Given the description of an element on the screen output the (x, y) to click on. 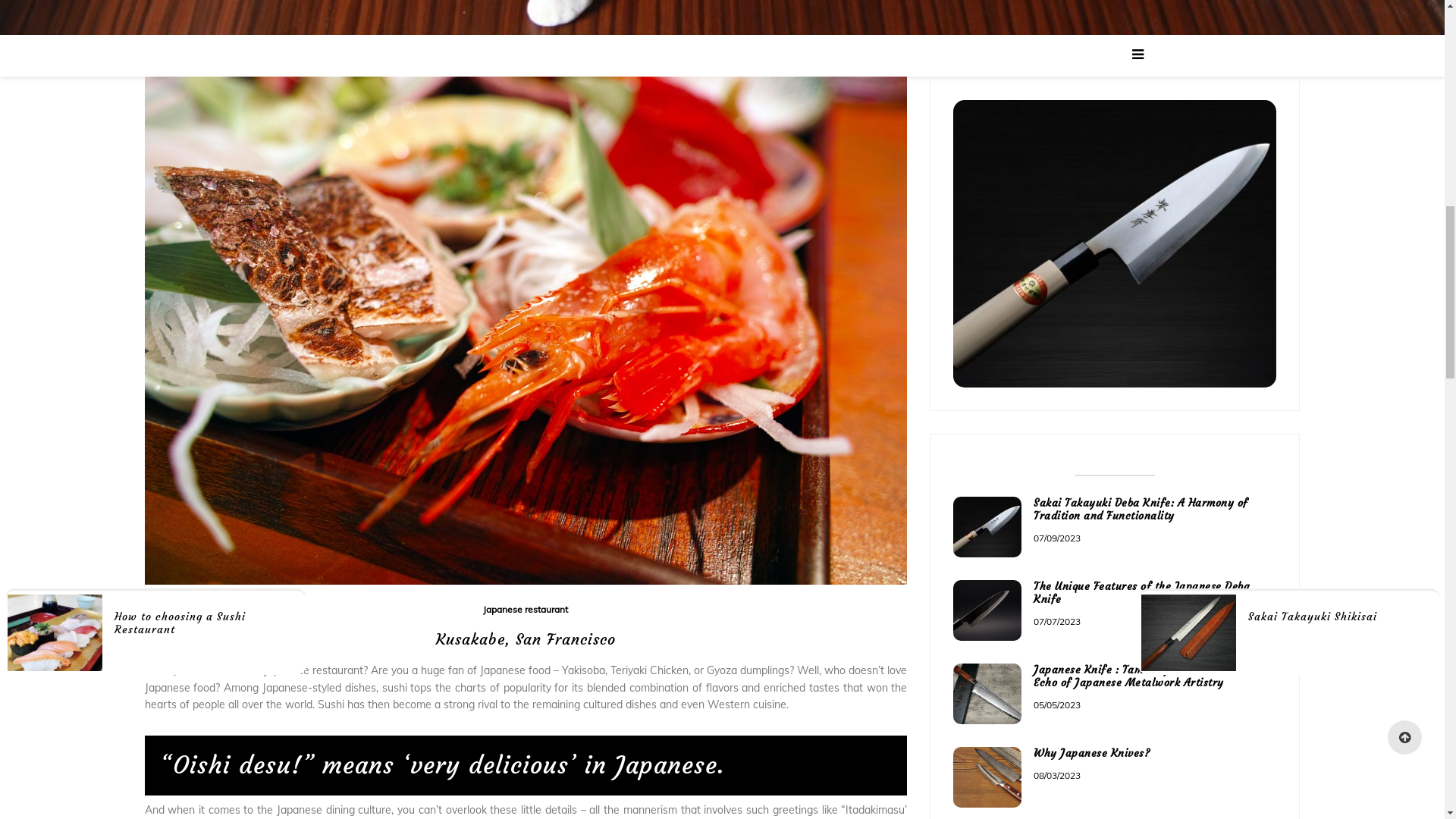
Japanese knife and Food Cooking School Element type: text (722, 56)
